Given the description of an element on the screen output the (x, y) to click on. 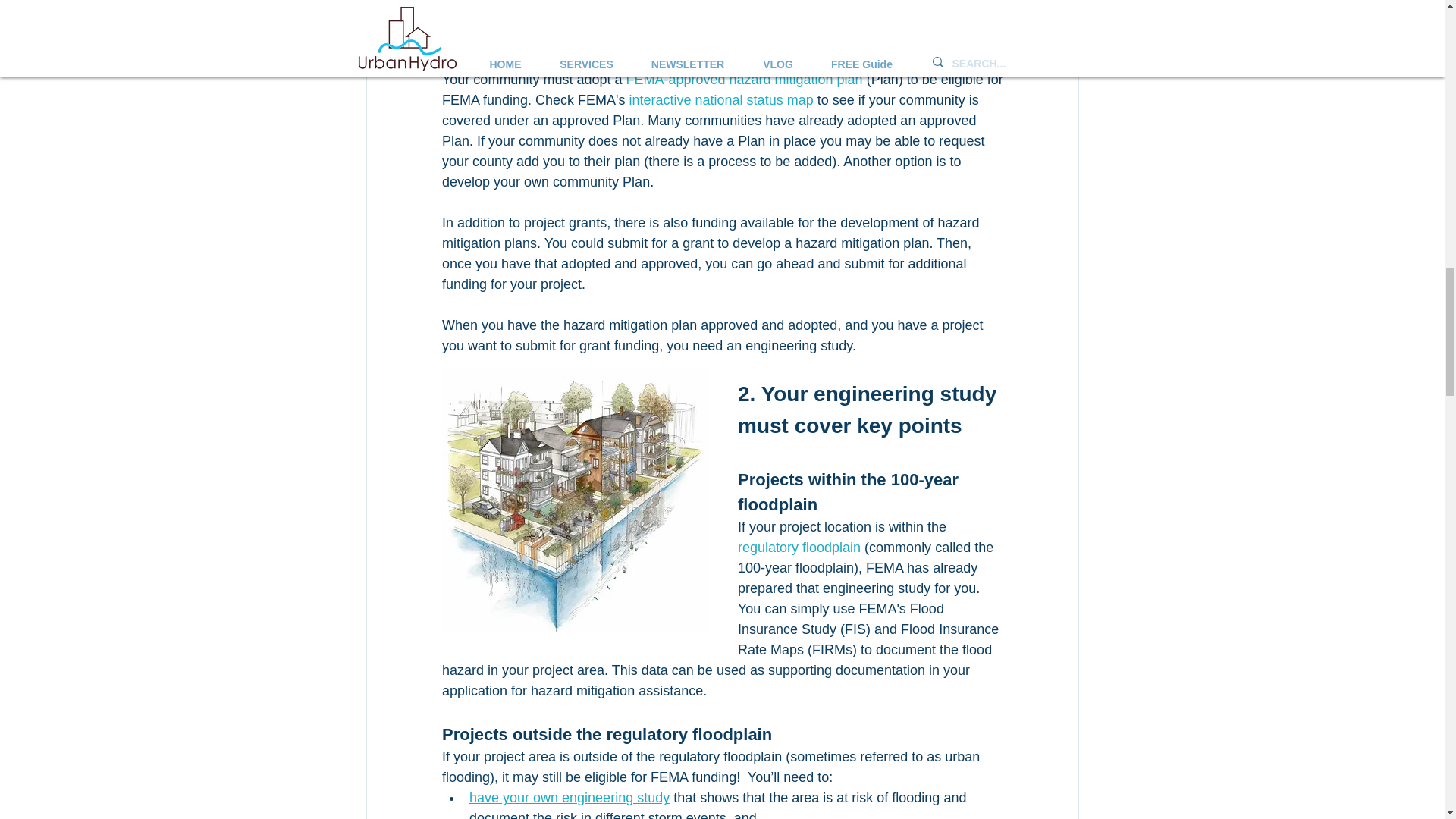
have your own engineering study (568, 797)
interactive national status map (720, 99)
FEMA-approved hazard mitigation plan (743, 79)
regulatory floodplain (798, 547)
